Given the description of an element on the screen output the (x, y) to click on. 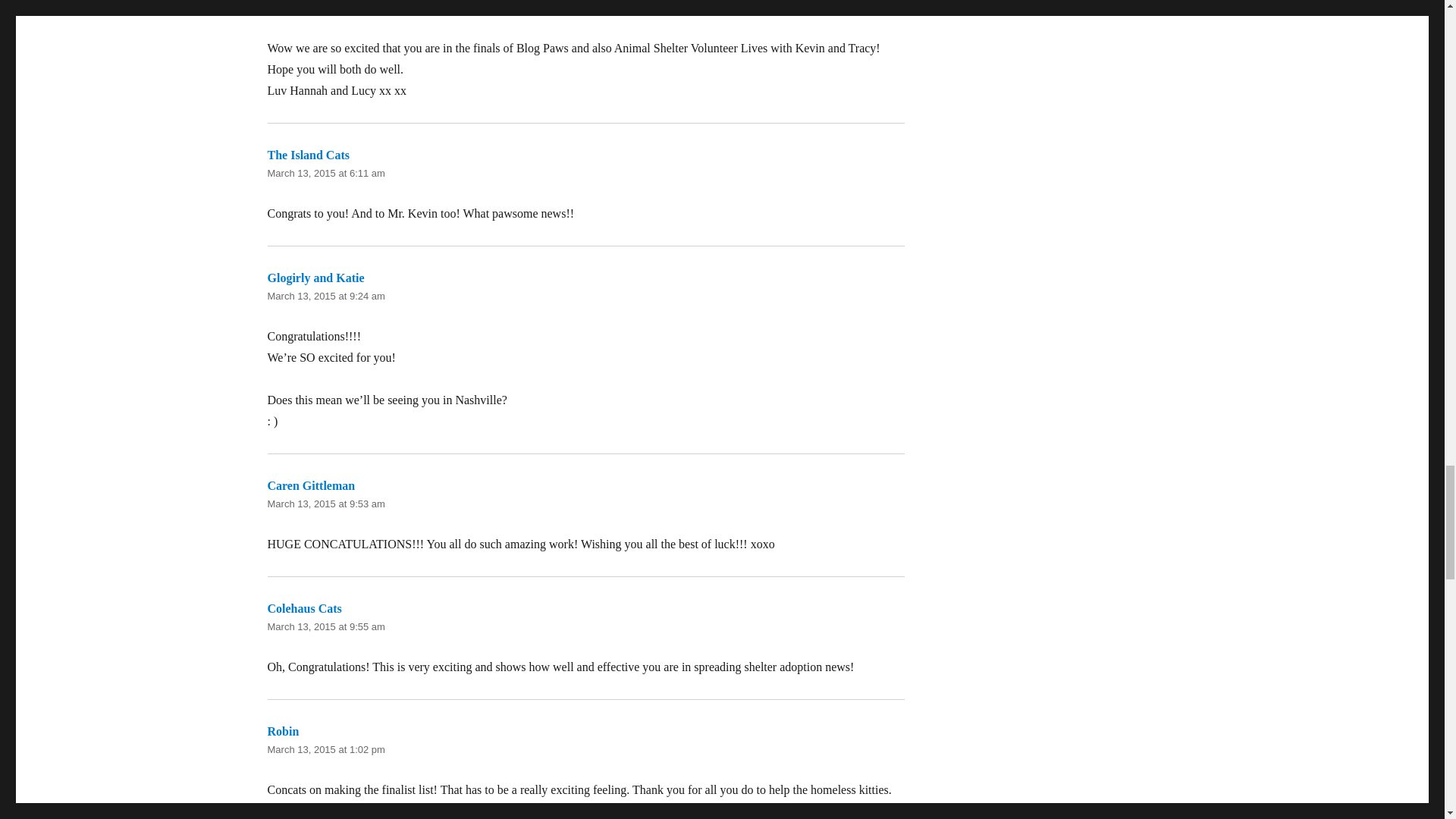
March 13, 2015 at 6:11 am (325, 173)
The Island Cats (307, 154)
Glogirly and Katie (315, 277)
March 13, 2015 at 9:24 am (325, 296)
March 13, 2015 at 5:02 am (325, 7)
